Given the description of an element on the screen output the (x, y) to click on. 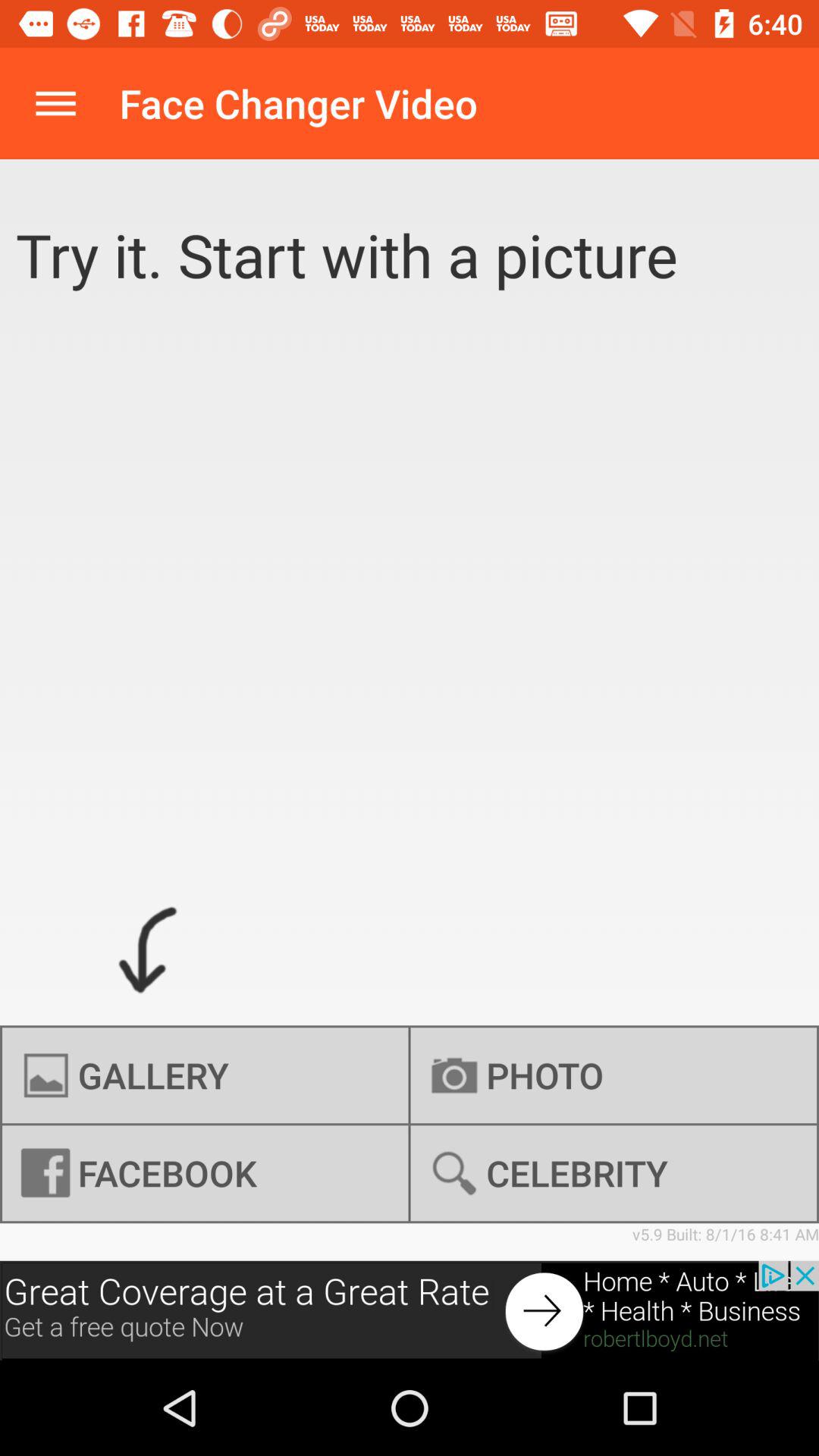
open menu (55, 103)
